Given the description of an element on the screen output the (x, y) to click on. 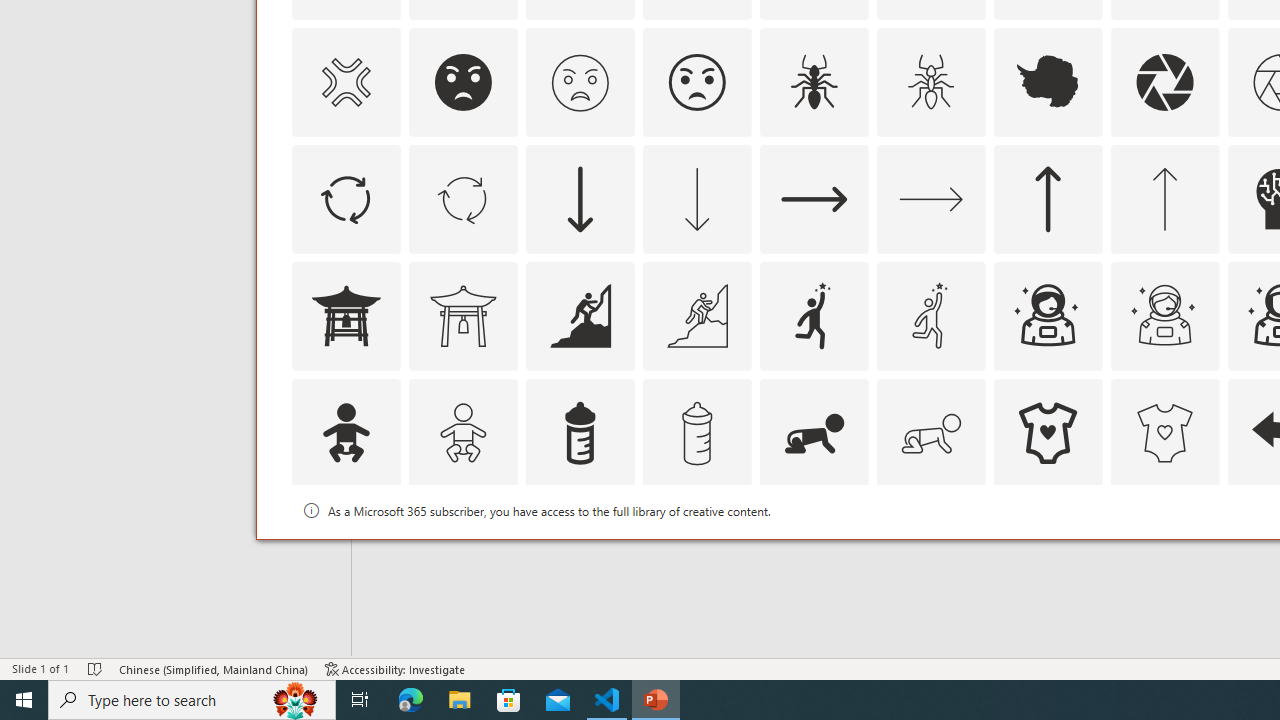
AutomationID: Icons_Badge4_M (1048, 550)
AutomationID: Icons_Ant (813, 82)
AutomationID: Icons_AngryFace (463, 82)
AutomationID: Icons_ArrowUp (1048, 198)
AutomationID: Icons_Badge2_M (579, 550)
AutomationID: Icons_ArrowUp_M (1164, 198)
